Given the description of an element on the screen output the (x, y) to click on. 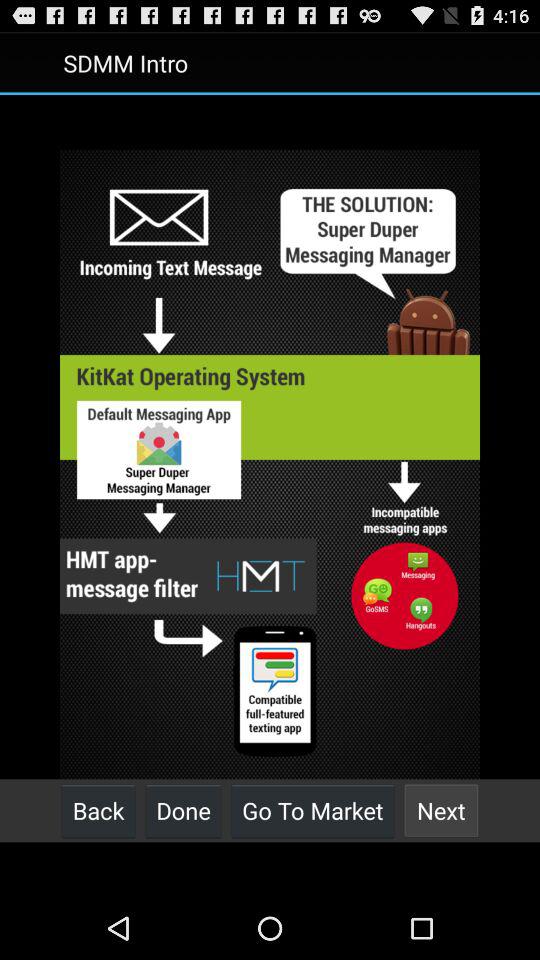
swipe to the back item (98, 810)
